Given the description of an element on the screen output the (x, y) to click on. 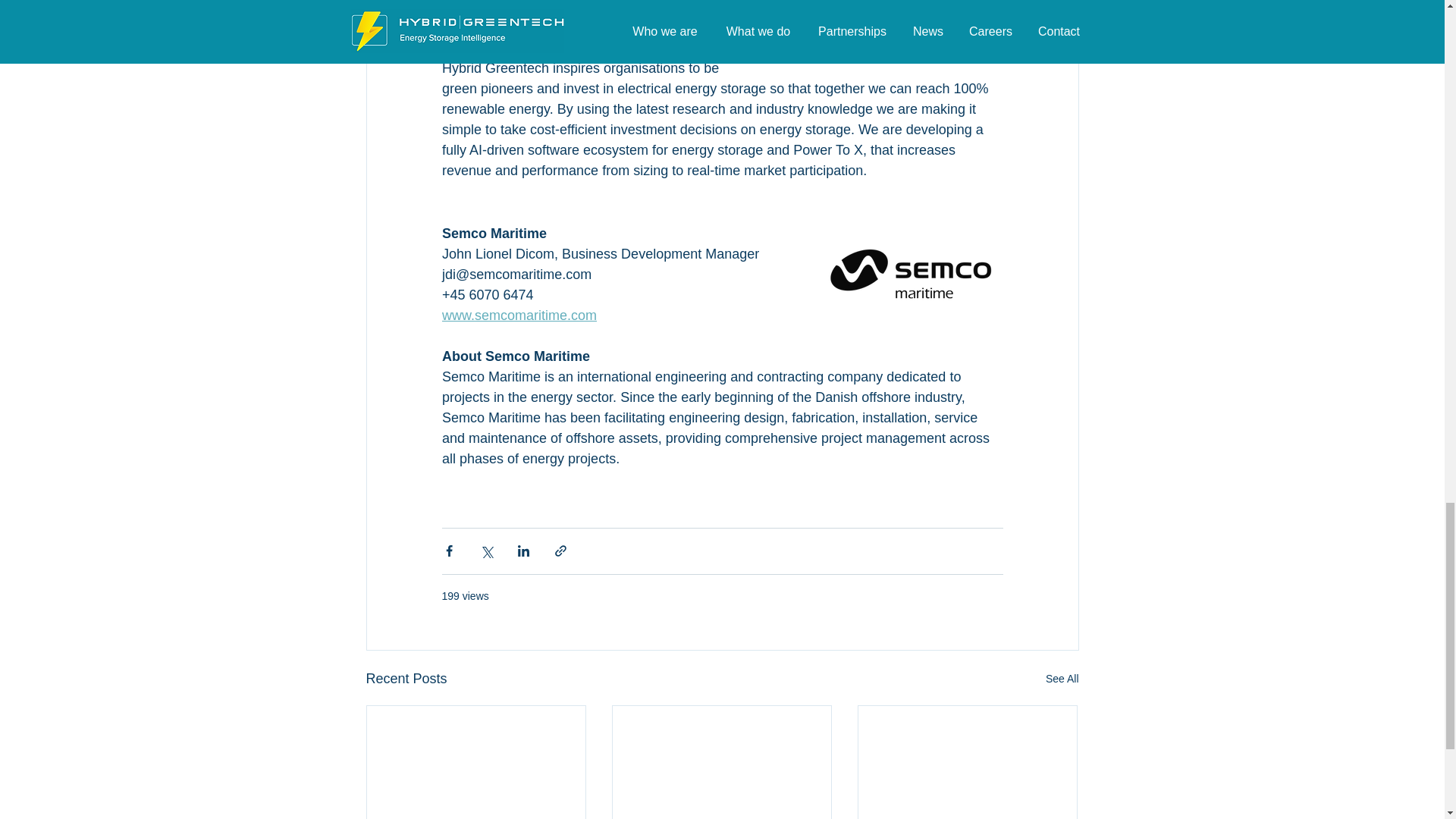
See All (1061, 679)
www.hybridgreentech.com (521, 7)
www.semcomaritime.com (518, 314)
